Given the description of an element on the screen output the (x, y) to click on. 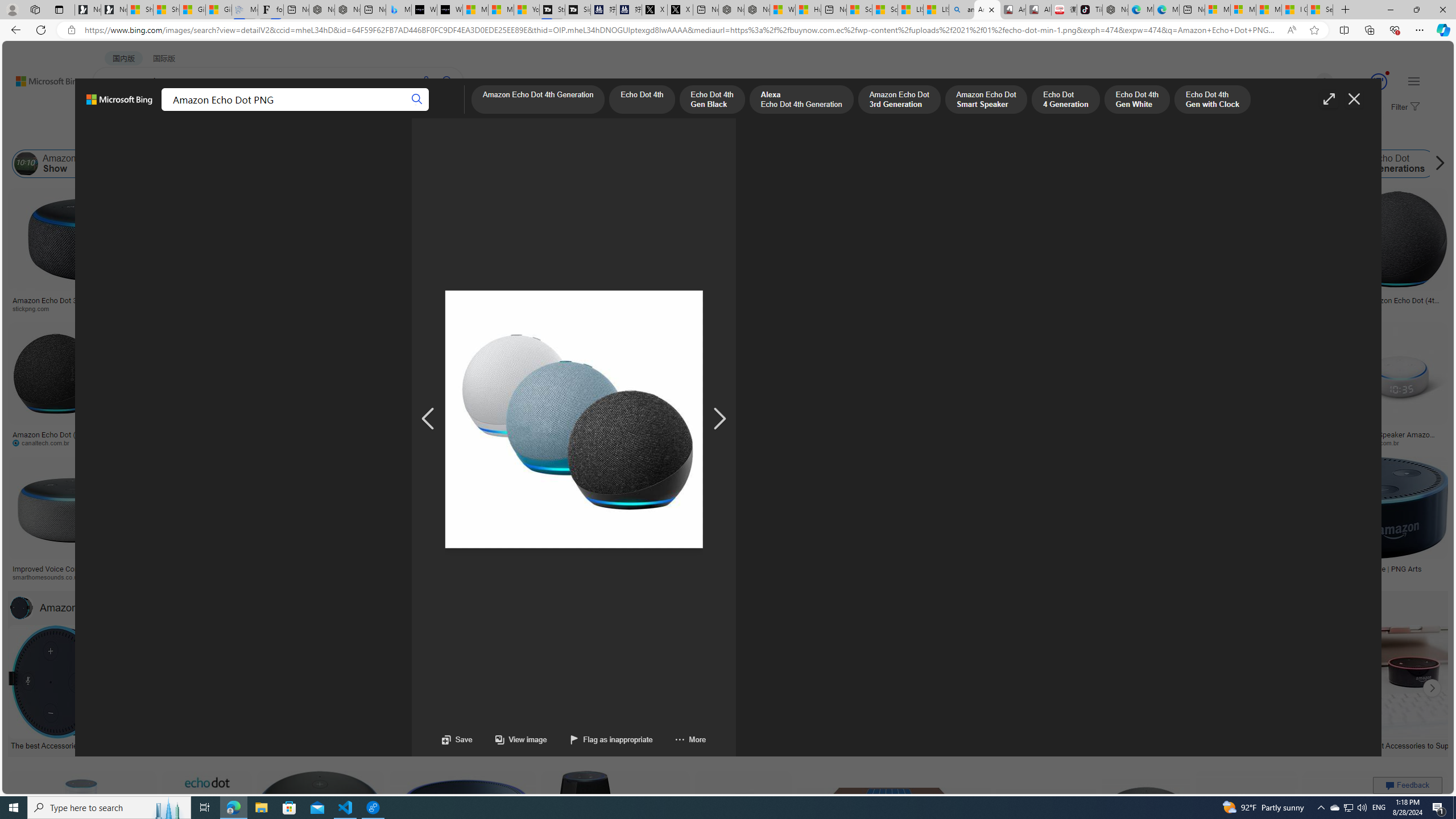
Class: outer-circle-animation (1378, 81)
Back to Bing search (41, 78)
Best Amazon Echo Dot Accessories for 2024 (976, 744)
ACADEMIC (311, 111)
currys.co.uk (1070, 576)
Amazon Echo Plus (1026, 163)
Amazon Echo Dot with Clock (490, 163)
